Given the description of an element on the screen output the (x, y) to click on. 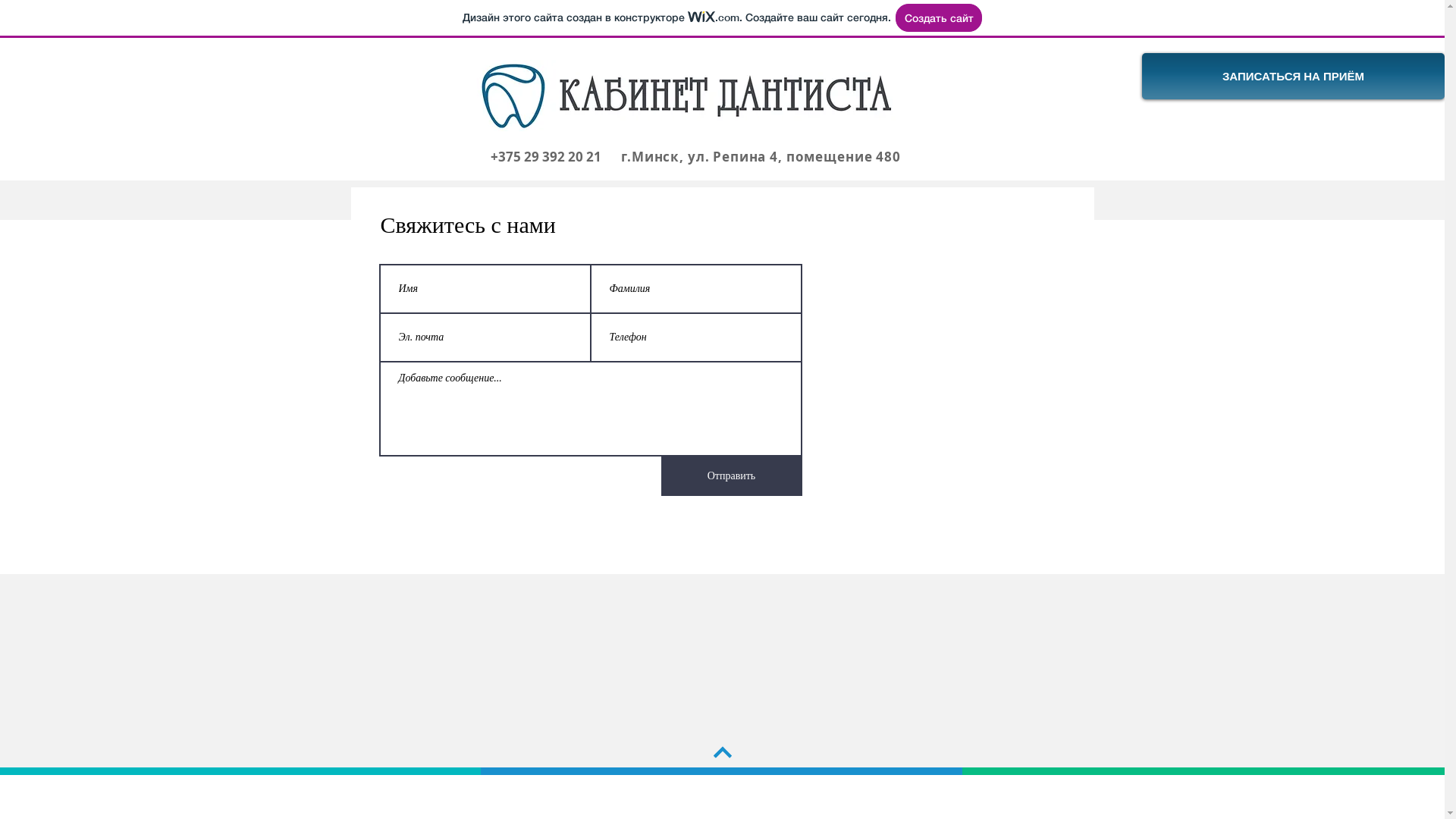
+375 29 392 20 21 Element type: text (544, 157)
